Given the description of an element on the screen output the (x, y) to click on. 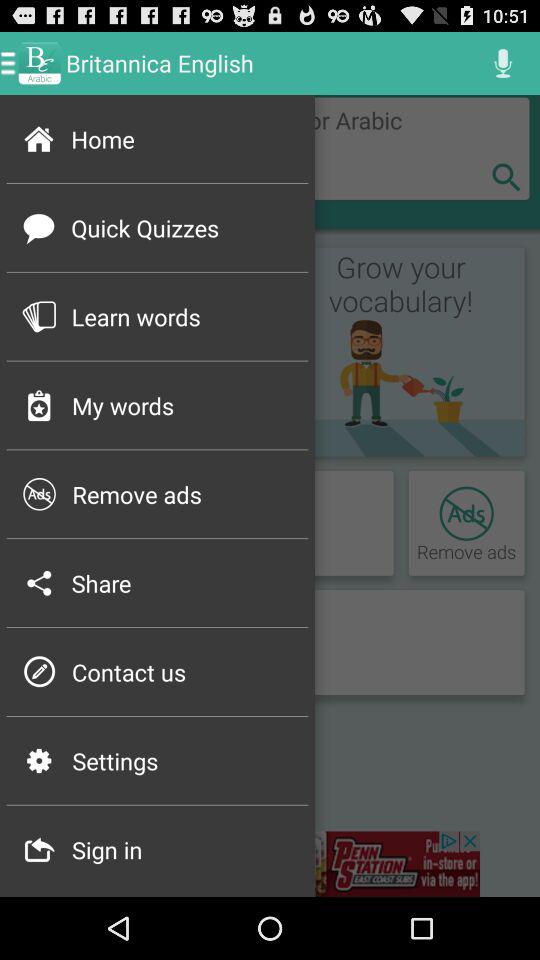
sign into account (270, 864)
